Given the description of an element on the screen output the (x, y) to click on. 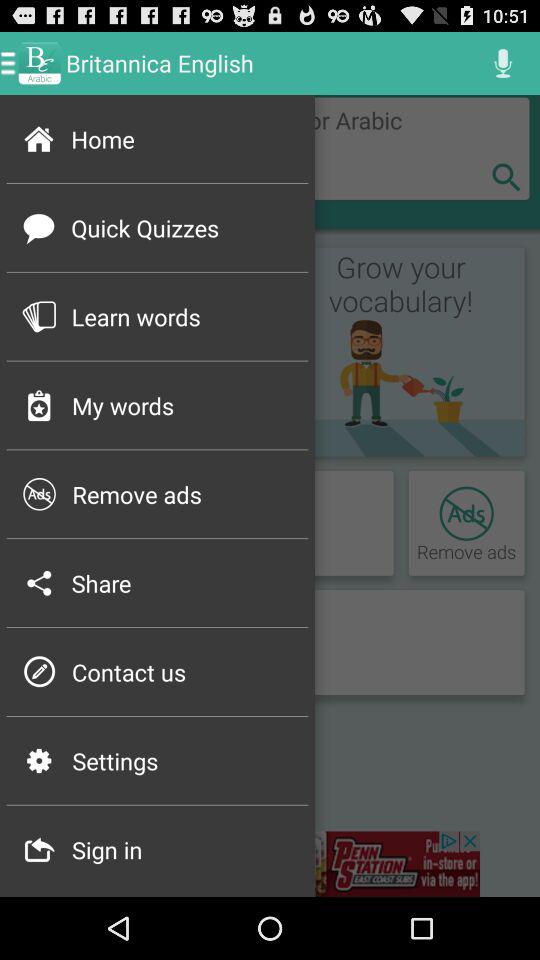
sign into account (270, 864)
